Given the description of an element on the screen output the (x, y) to click on. 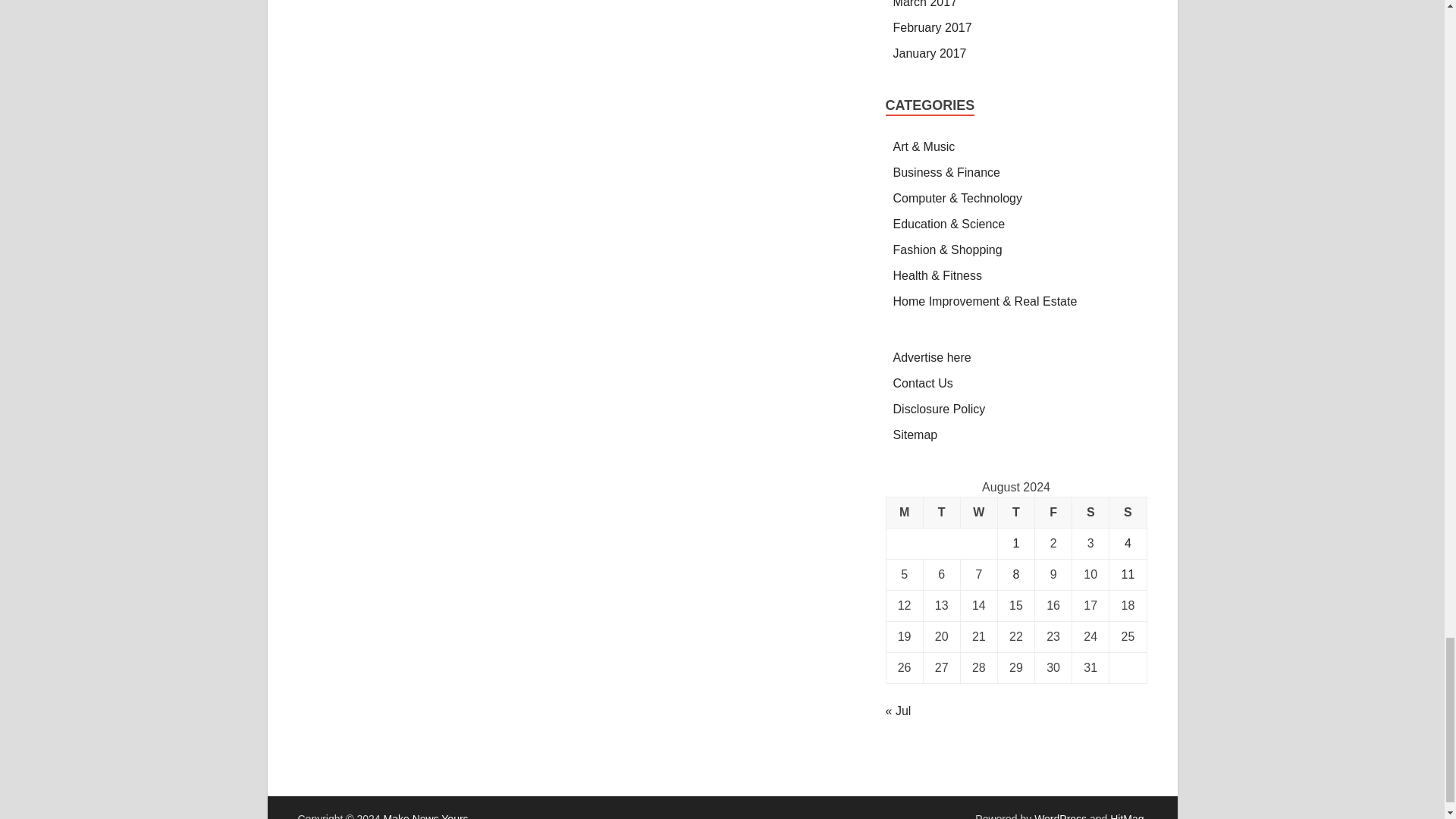
Friday (1053, 512)
Monday (904, 512)
Thursday (1015, 512)
Wednesday (978, 512)
Tuesday (941, 512)
Sunday (1128, 512)
Saturday (1090, 512)
